Given the description of an element on the screen output the (x, y) to click on. 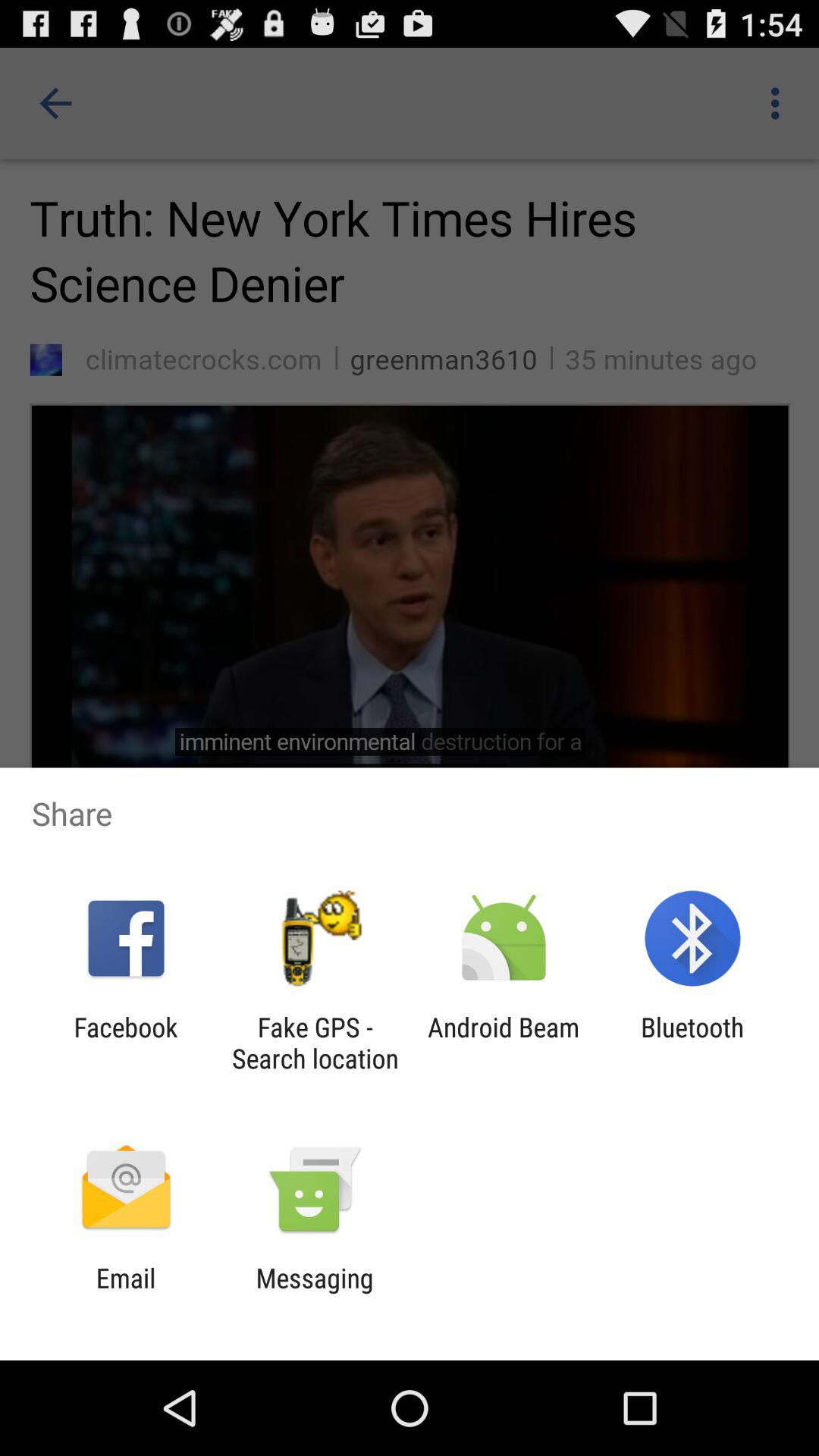
click the icon to the left of bluetooth (503, 1042)
